Given the description of an element on the screen output the (x, y) to click on. 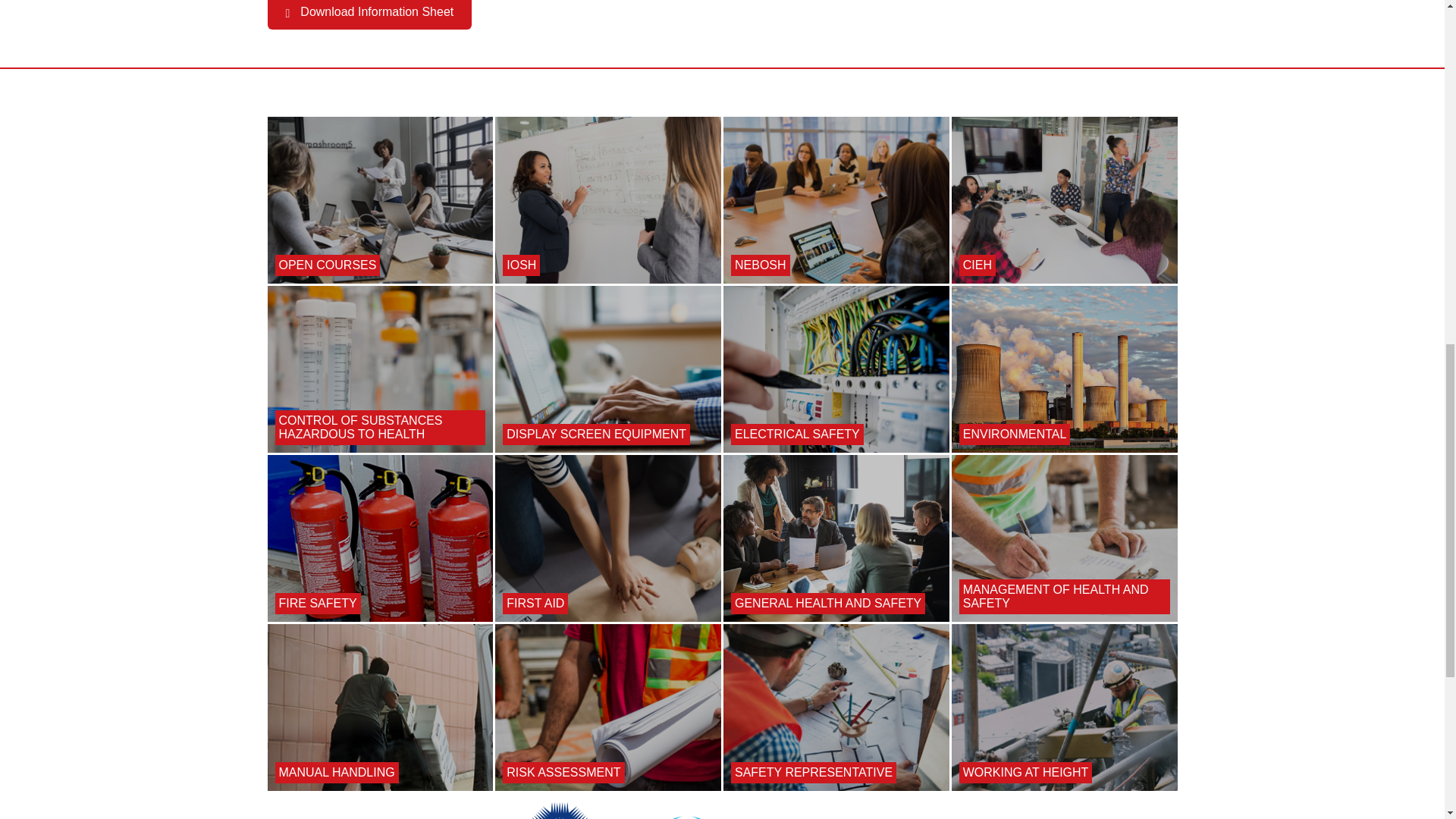
  CIEH (1064, 200)
  IOSH (607, 200)
  OPEN COURSES (379, 200)
Download Information Sheet (368, 14)
  NEBOSH (836, 200)
